Given the description of an element on the screen output the (x, y) to click on. 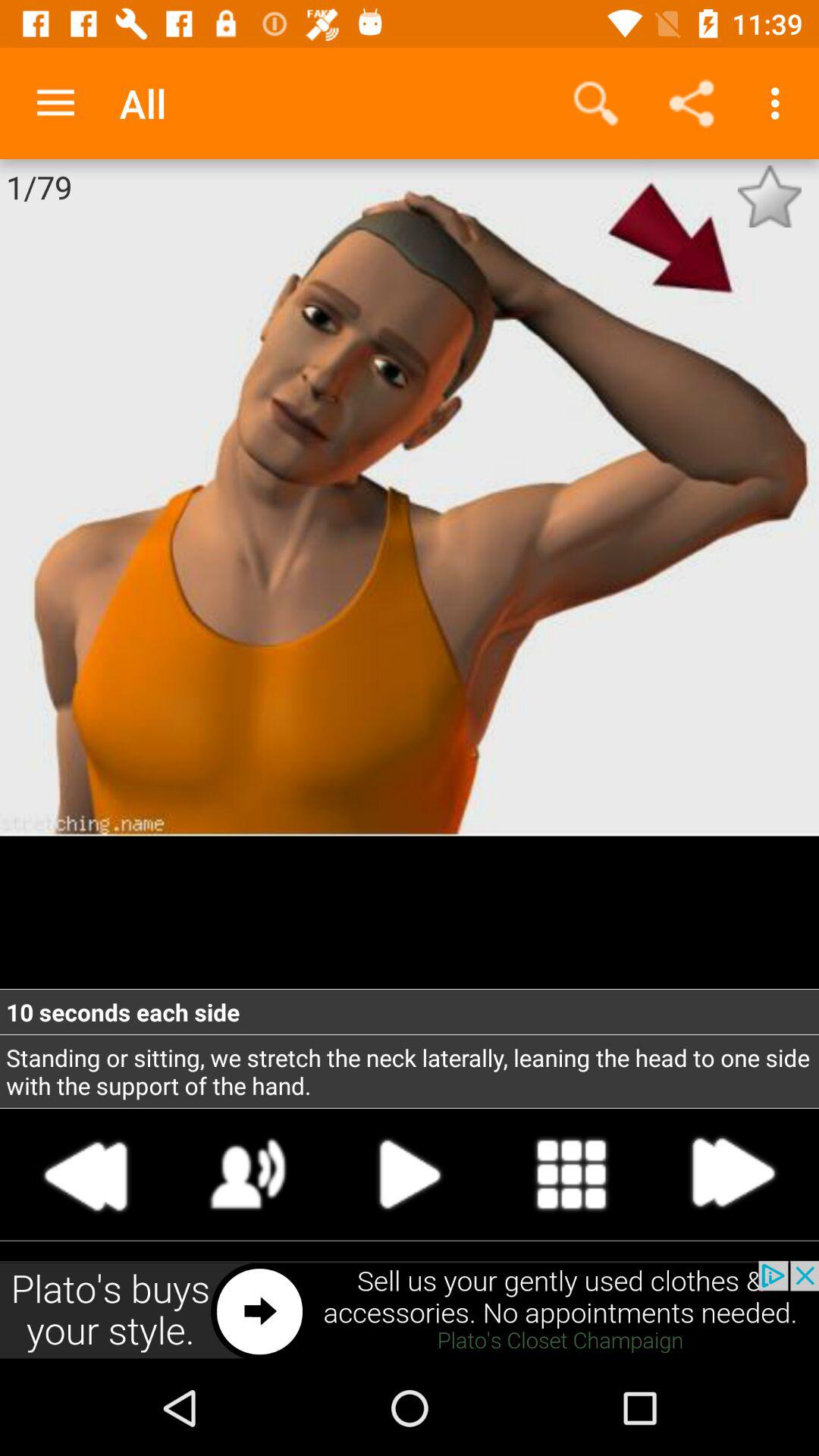
play (409, 1174)
